Given the description of an element on the screen output the (x, y) to click on. 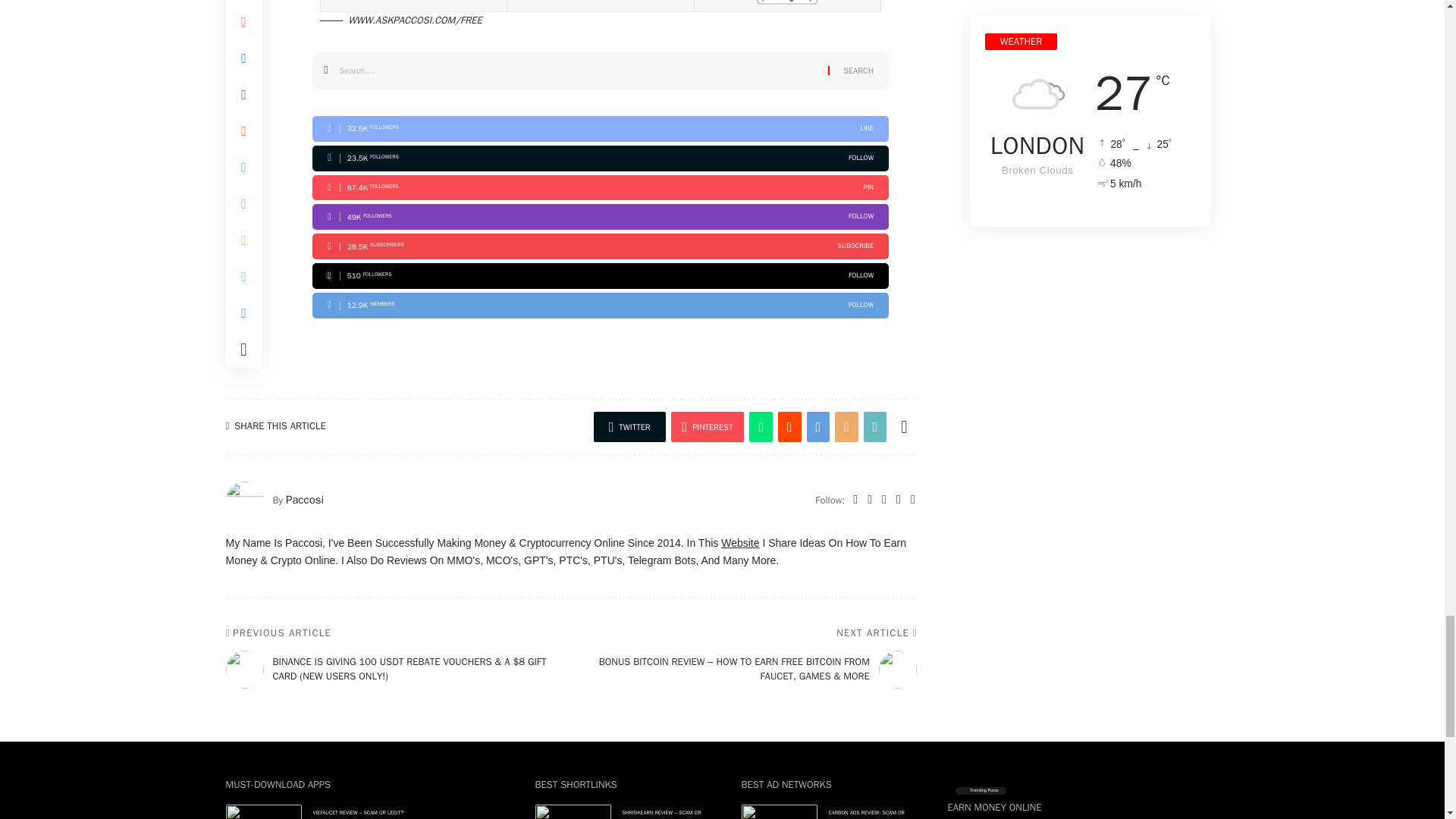
Carbon Ads Review: Scam Or Legit? (778, 811)
Search (858, 70)
